Given the description of an element on the screen output the (x, y) to click on. 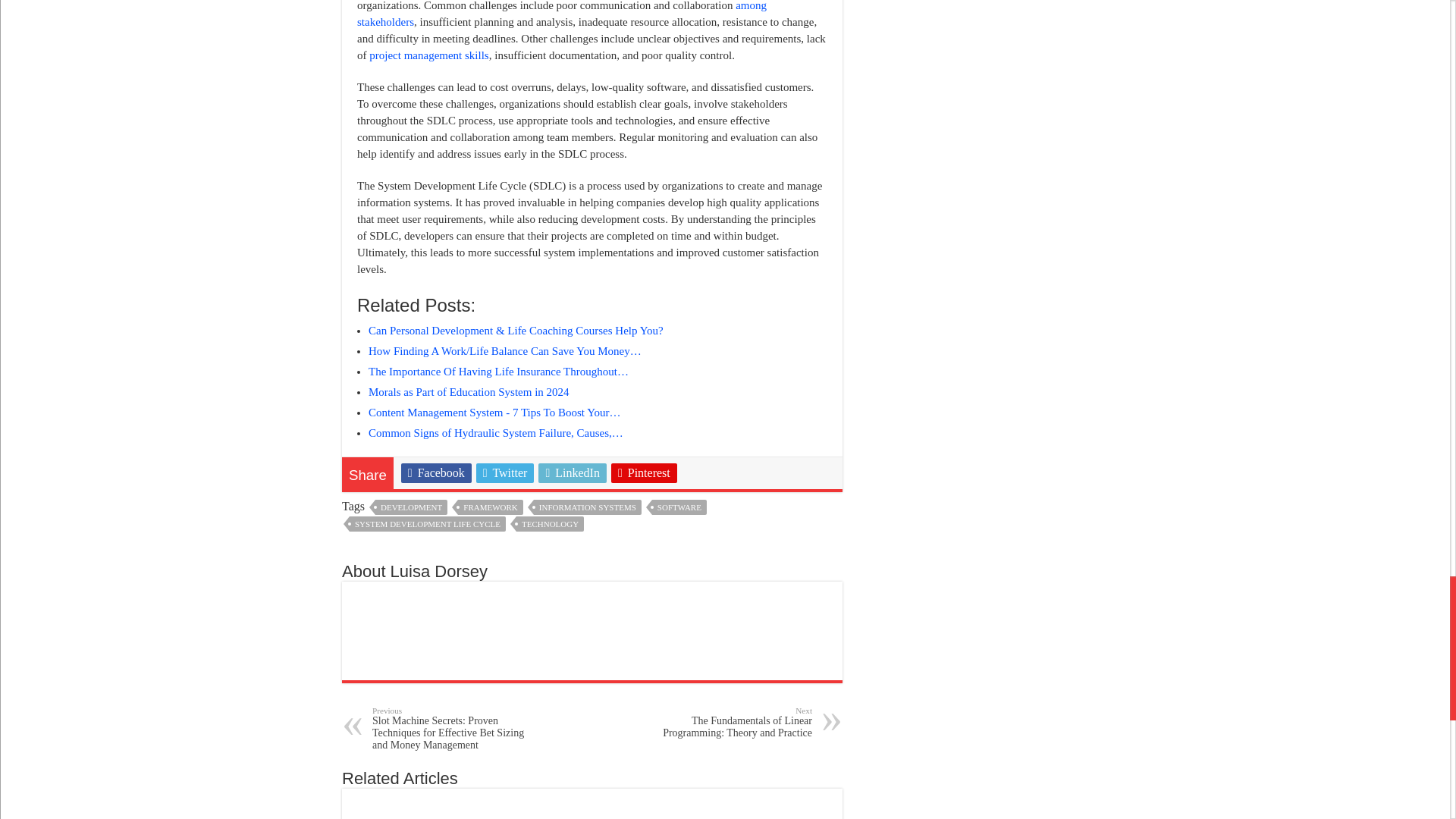
LinkedIn (572, 473)
Twitter (505, 473)
project management skills (428, 55)
Pinterest (644, 473)
Facebook (436, 473)
among stakeholders (561, 13)
Morals as Part of Education System in 2024 (468, 391)
